Given the description of an element on the screen output the (x, y) to click on. 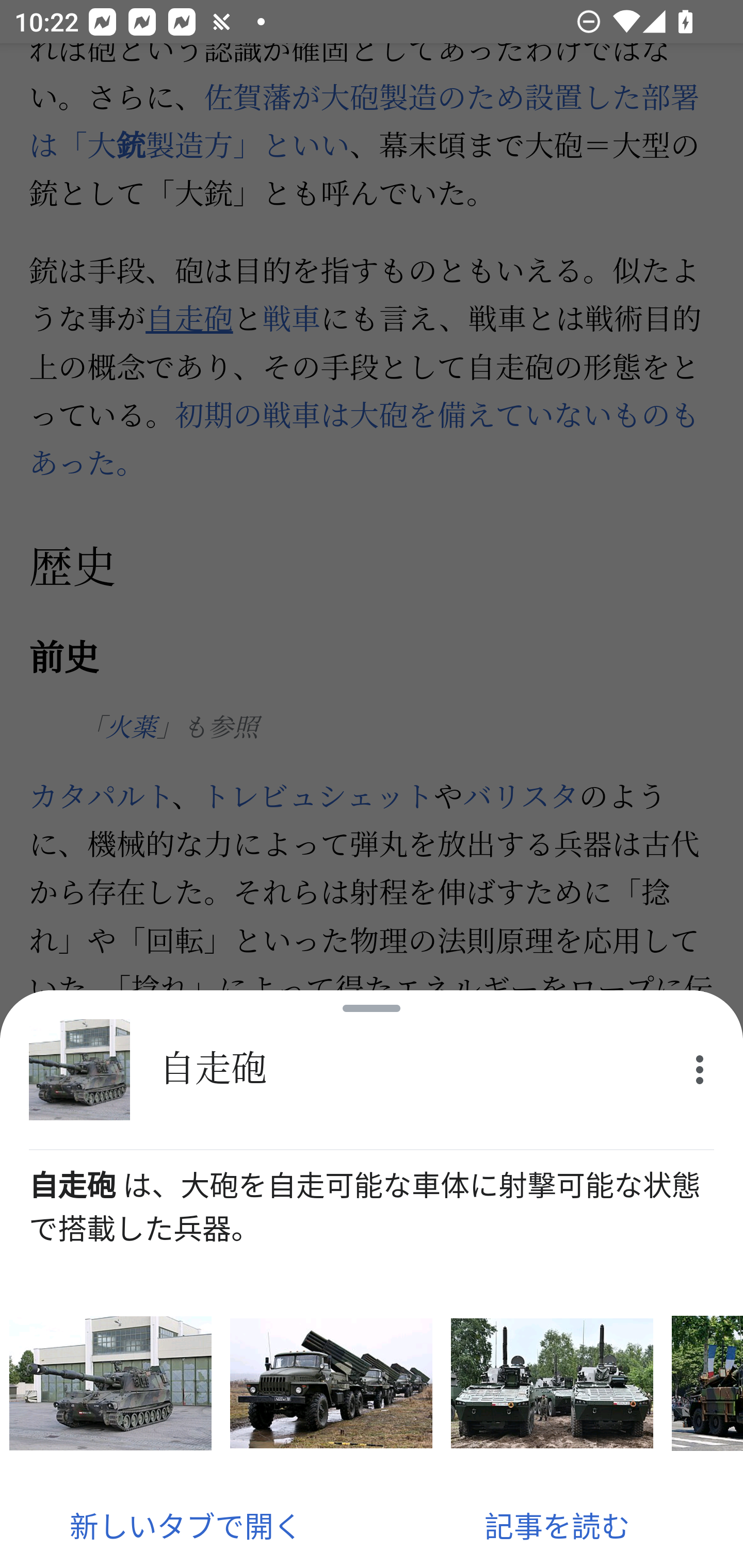
自走砲 More options (371, 1069)
More options (699, 1070)
新しいタブで開く (185, 1524)
記事を読む (557, 1524)
